Given the description of an element on the screen output the (x, y) to click on. 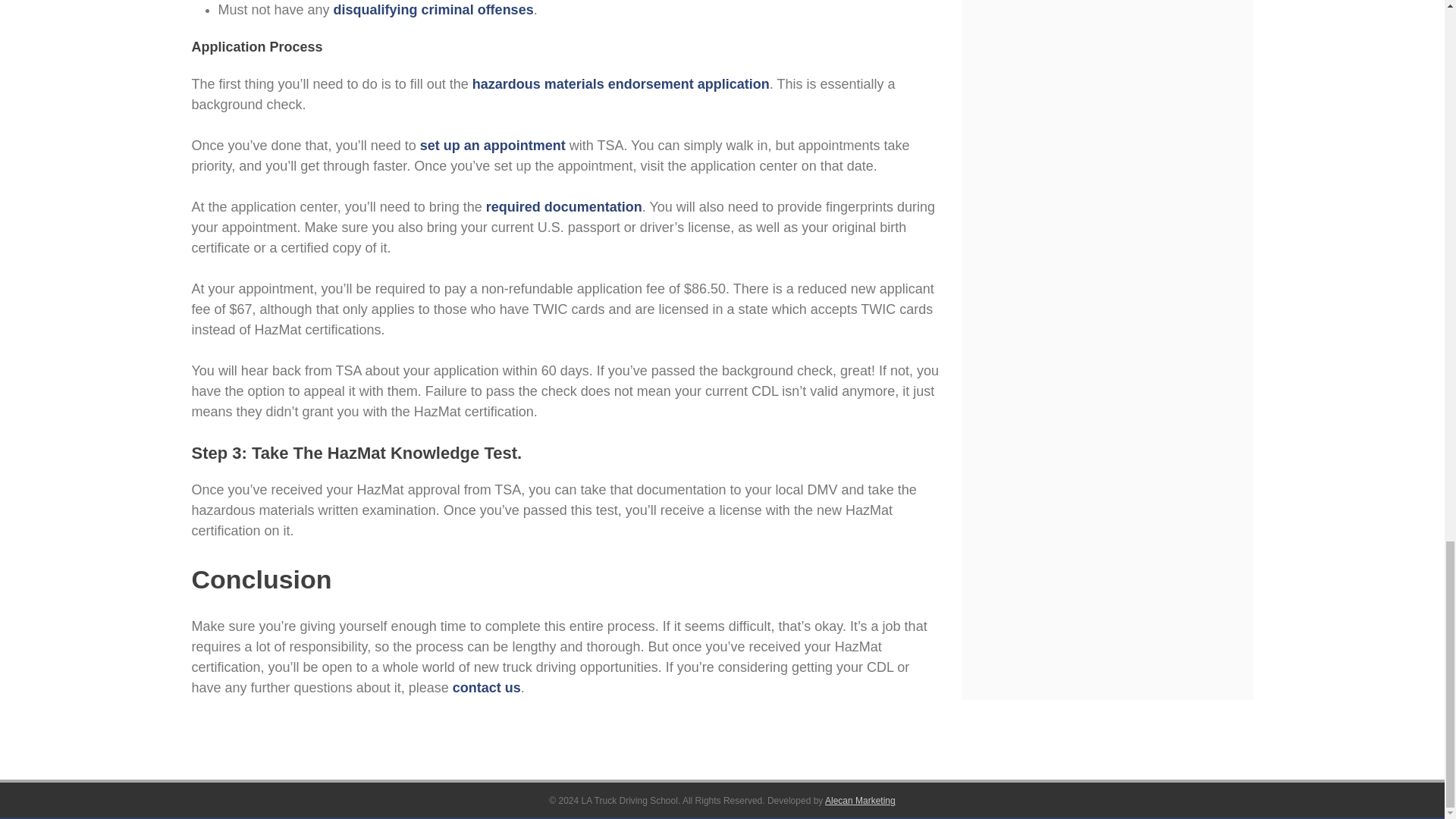
contact us (486, 687)
set up an appointment (493, 145)
Alecan Marketing (860, 800)
disqualifying criminal offenses (433, 9)
required documentation (564, 206)
hazardous materials endorsement application (620, 83)
